Given the description of an element on the screen output the (x, y) to click on. 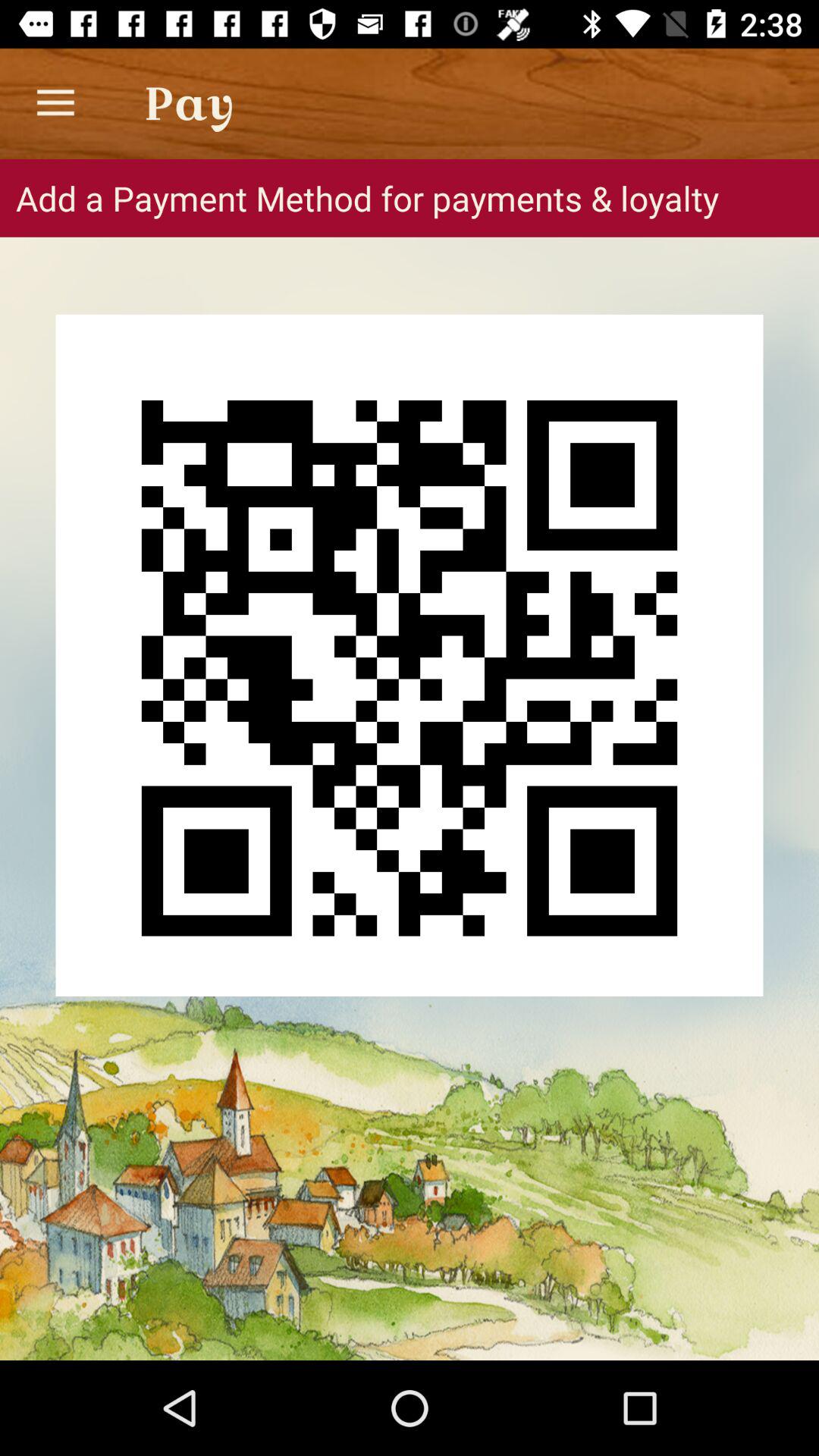
turn on item above the add a payment (55, 103)
